Given the description of an element on the screen output the (x, y) to click on. 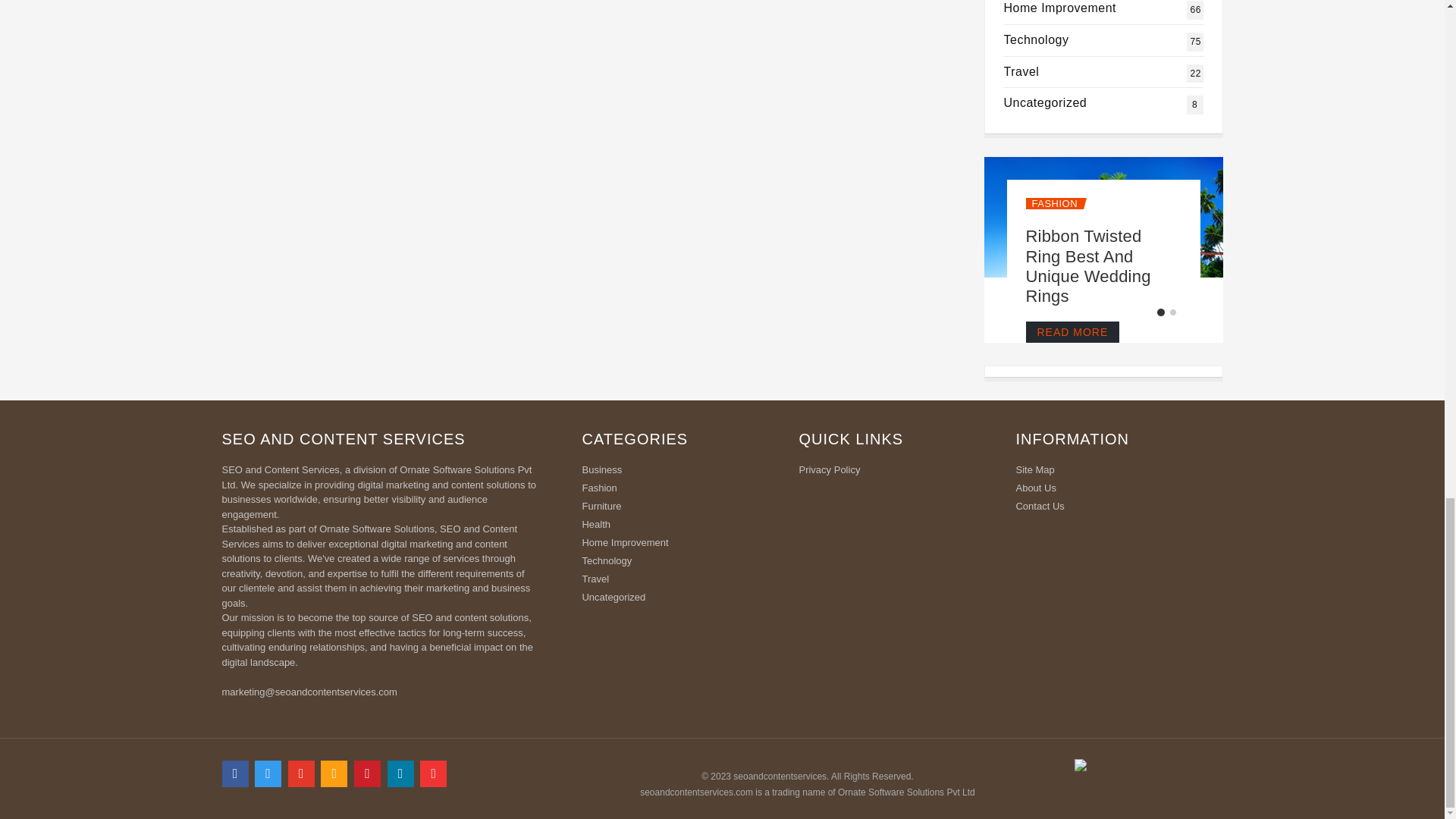
Business (679, 471)
Home Improvement (1021, 71)
Fashion (1060, 7)
Ribbon Twisted Ring Best And Unique Wedding Rings (1036, 39)
Fashion (1053, 203)
Technology (1087, 265)
Uncategorized (679, 489)
Travel (1036, 39)
Furniture (1060, 7)
